Given the description of an element on the screen output the (x, y) to click on. 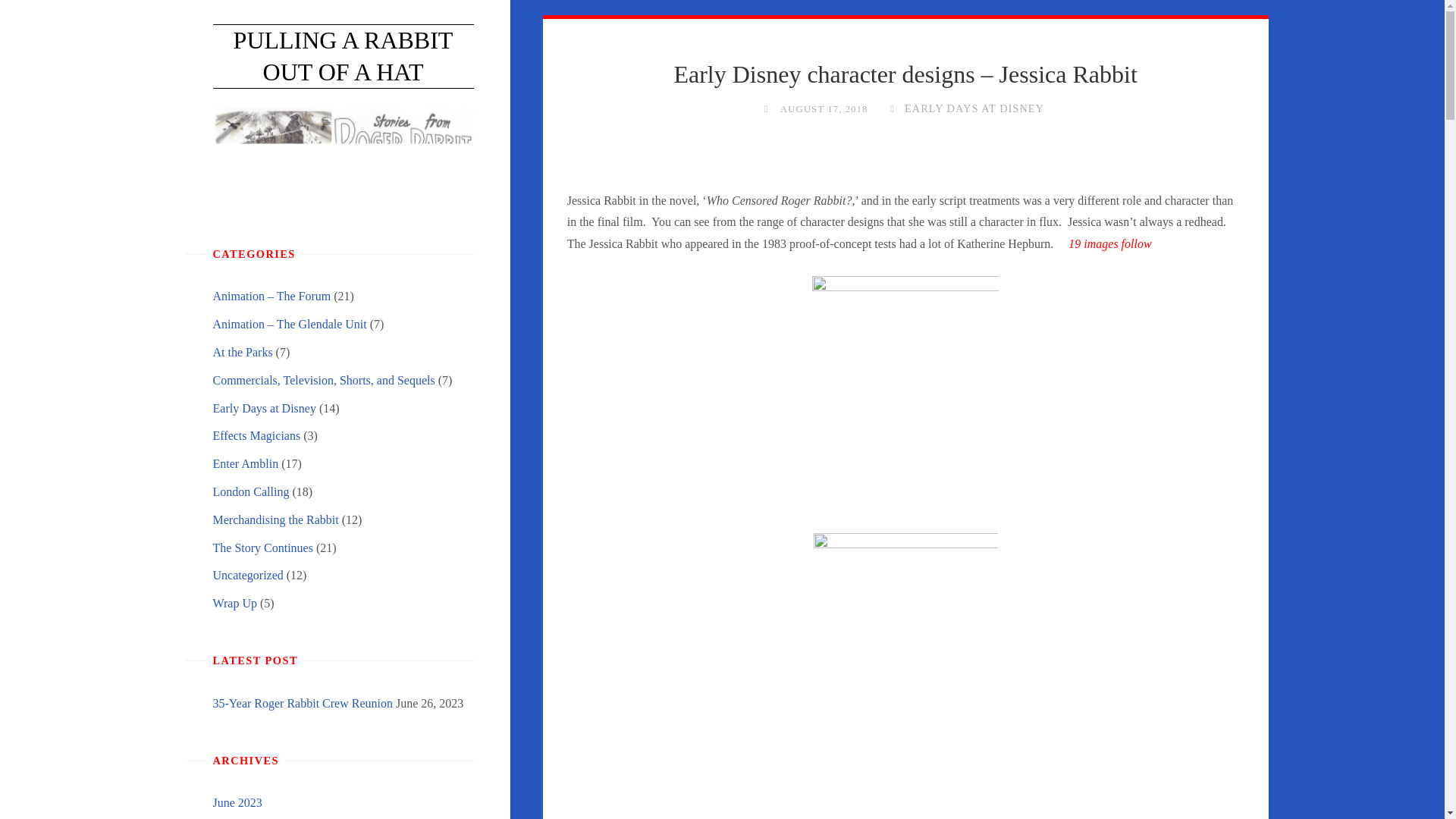
35-Year Roger Rabbit Crew Reunion (301, 703)
PULLING A RABBIT OUT OF A HAT (342, 56)
Merchandising the Rabbit (274, 519)
Wrap Up (234, 603)
Date (765, 108)
At the Parks (242, 351)
Early Days at Disney (263, 408)
Commercials, Television, Shorts, and Sequels (322, 379)
Enter Amblin (245, 463)
June 2023 (237, 802)
London Calling (250, 491)
Categories (892, 108)
Uncategorized (247, 574)
Effects Magicians (255, 435)
The Story Continues (262, 547)
